Given the description of an element on the screen output the (x, y) to click on. 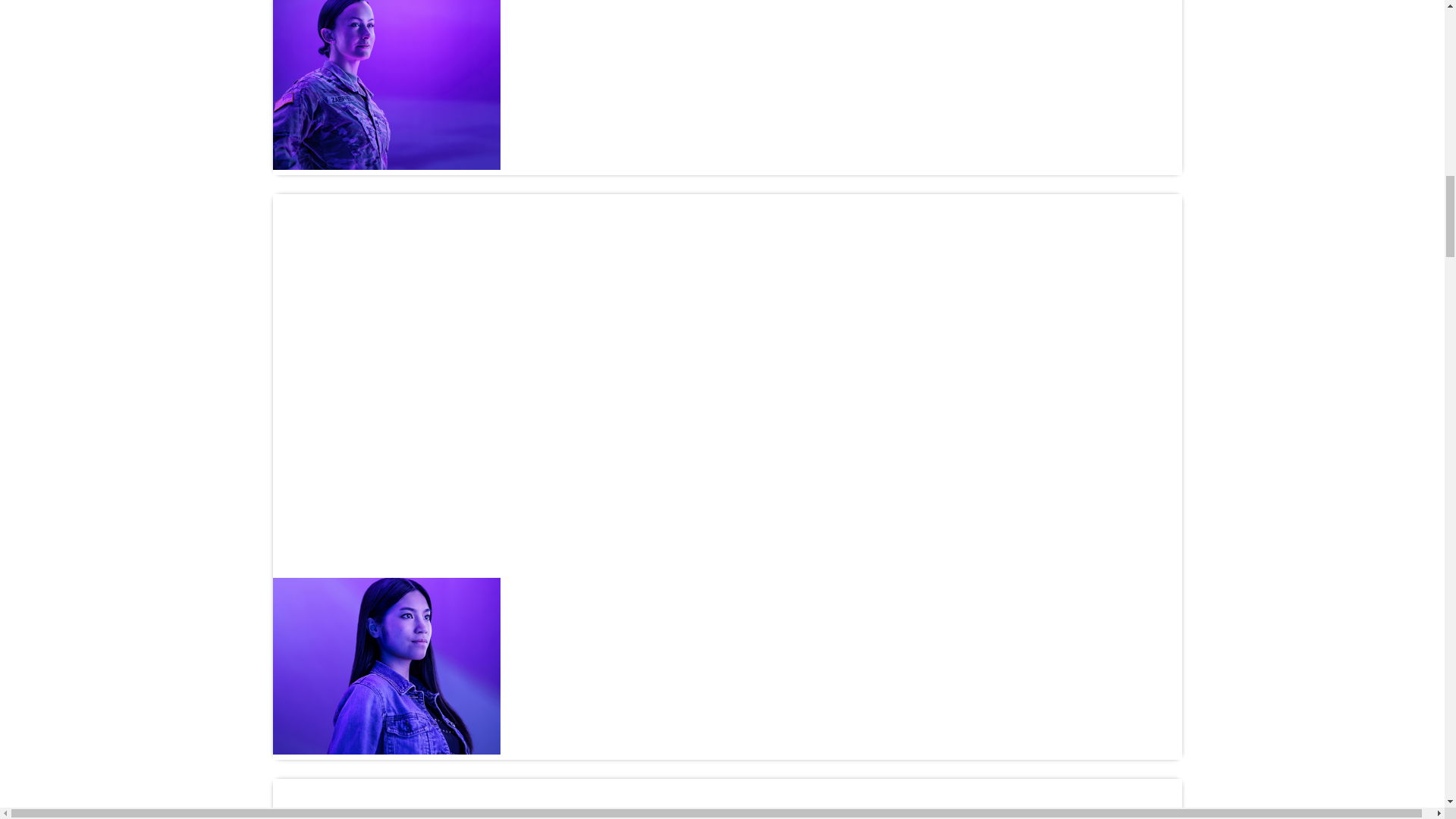
Curriculum (841, 196)
Online Management Degree Requirements (719, 384)
Online Course Offerings (733, 441)
Application Information (841, 780)
Online General Management Degree Requirements (719, 384)
Online Bachelor's Course Offerings (733, 441)
